Given the description of an element on the screen output the (x, y) to click on. 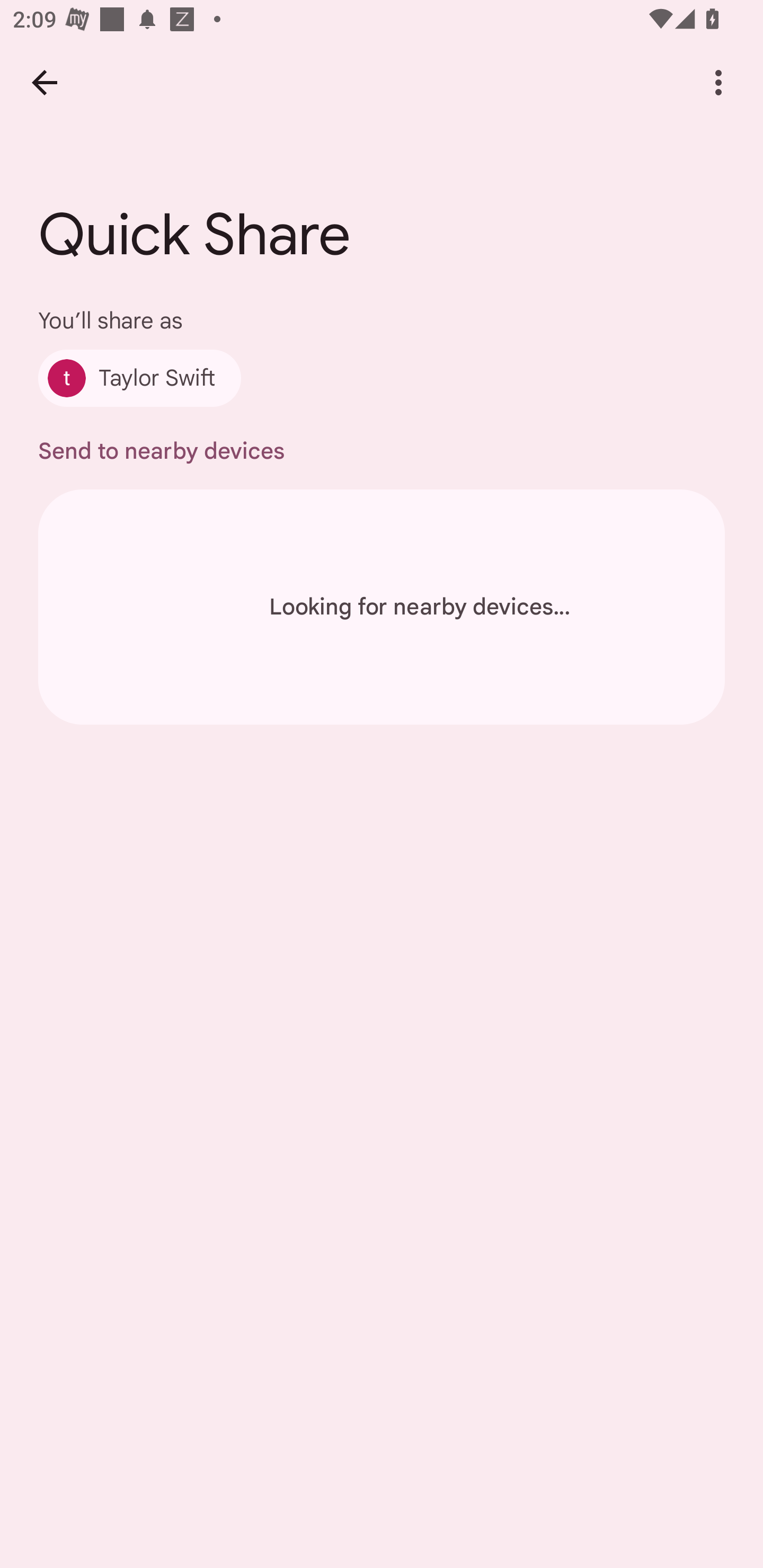
Back (44, 81)
More (718, 81)
Taylor Swift (139, 378)
